Given the description of an element on the screen output the (x, y) to click on. 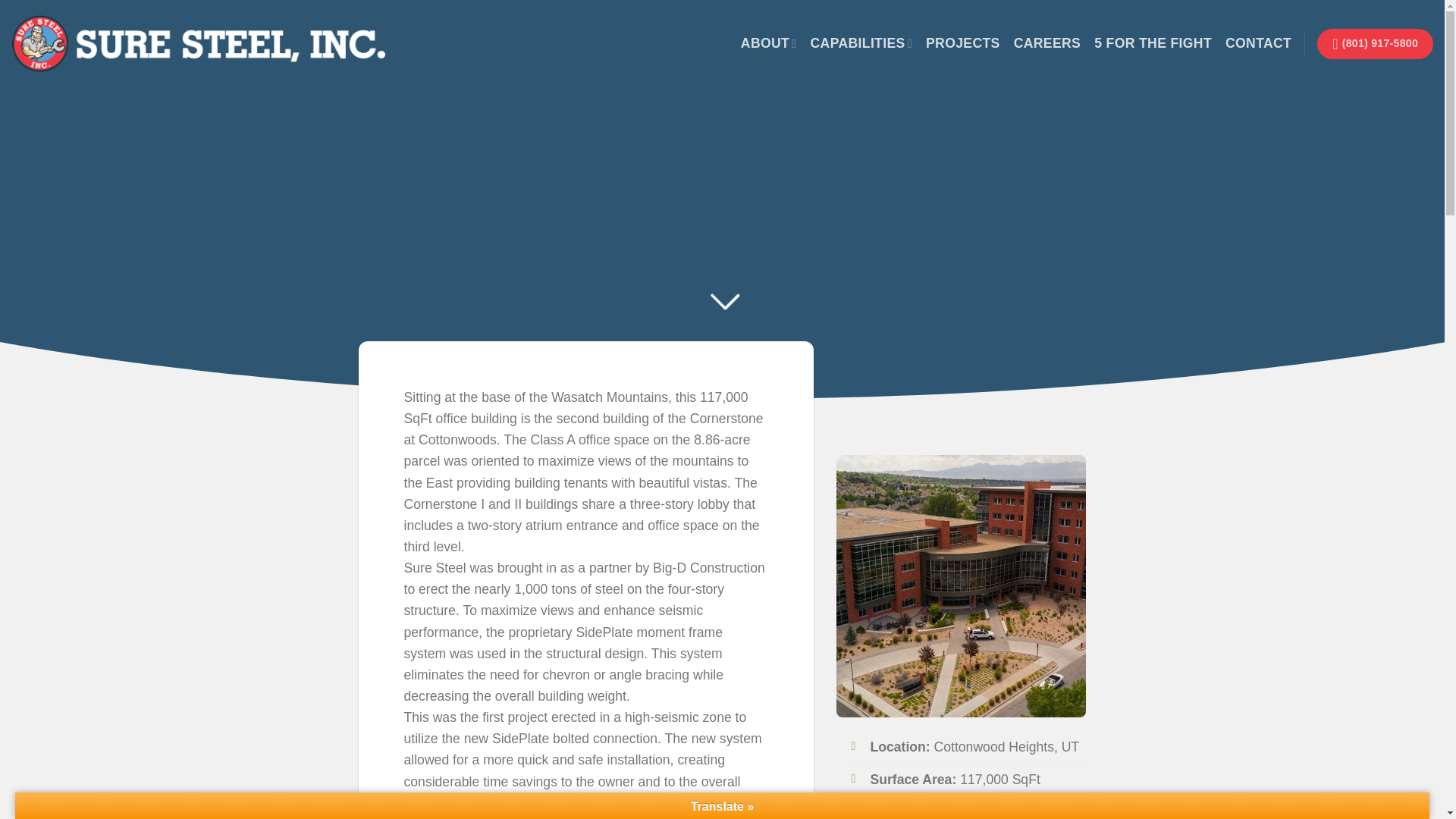
PROJECTS (963, 42)
CAPABILITIES (861, 42)
CAREERS (1047, 42)
SURE STEEL, INC. (198, 43)
5 FOR THE FIGHT (1152, 42)
CONTACT (1258, 42)
ABOUT (768, 42)
